Given the description of an element on the screen output the (x, y) to click on. 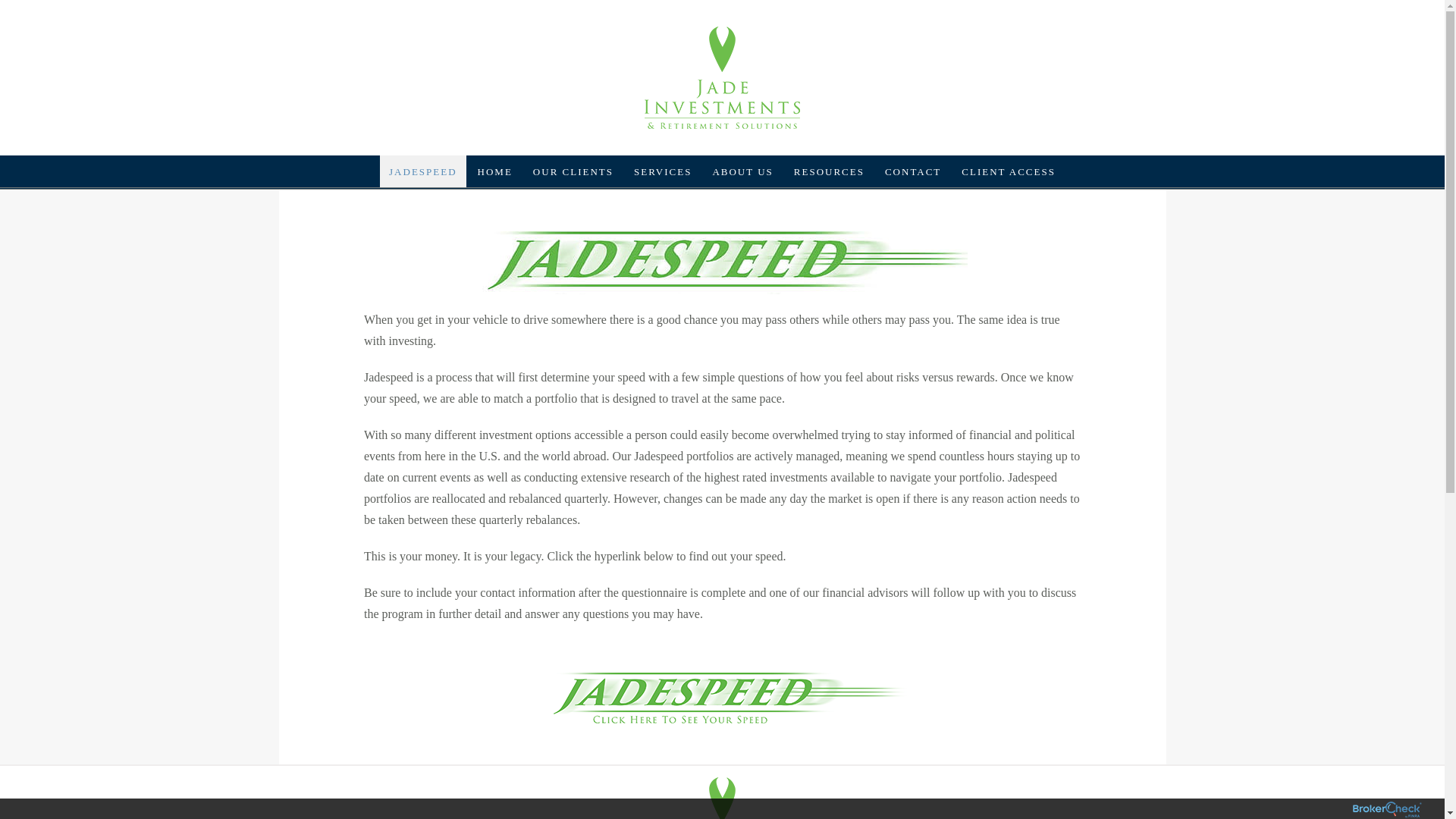
RESOURCES (828, 168)
JADESPEED (422, 154)
CONTACT (913, 169)
OUR CLIENTS (573, 154)
SERVICES (662, 158)
ABOUT US (742, 165)
HOME (494, 154)
